Given the description of an element on the screen output the (x, y) to click on. 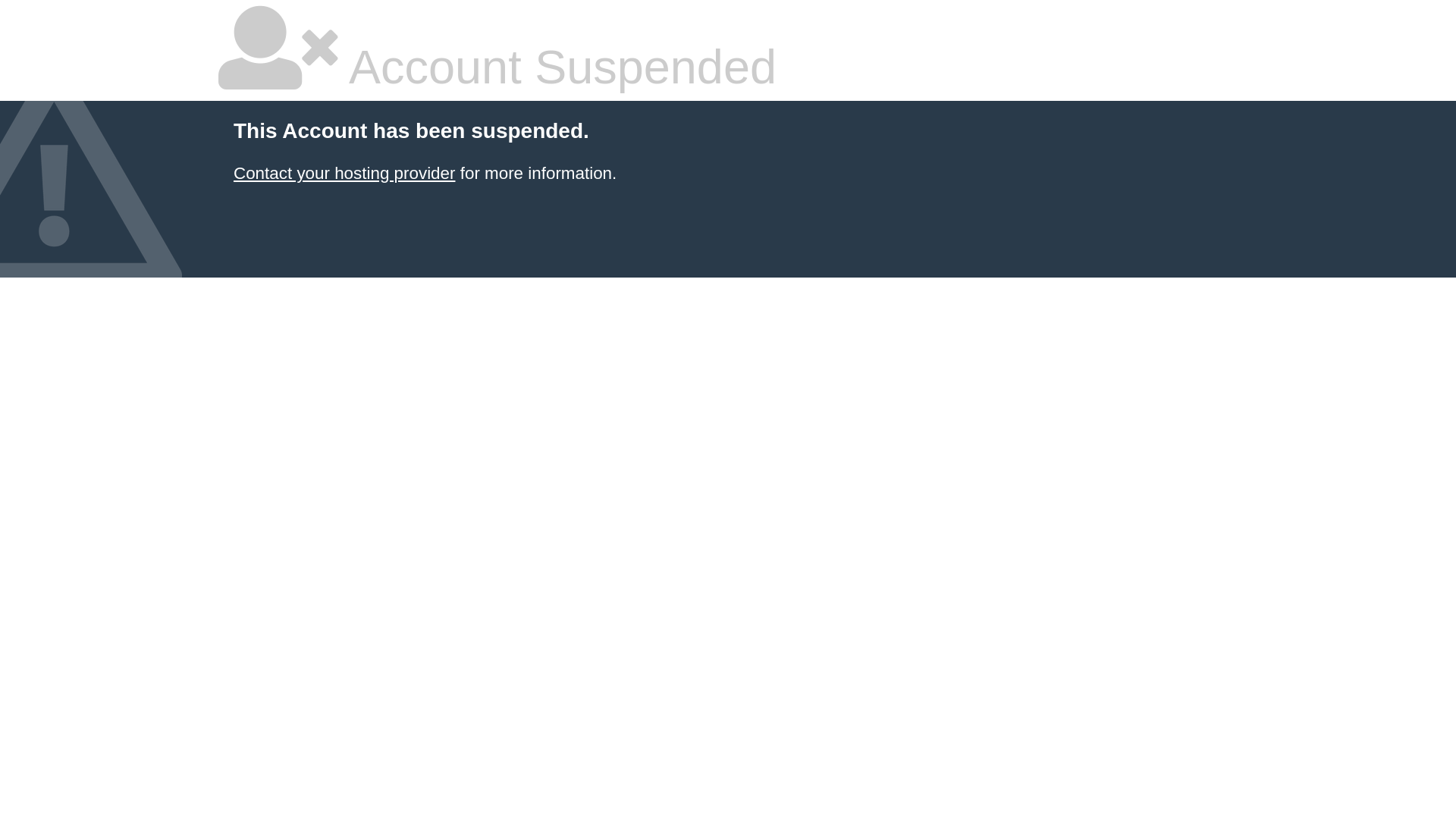
Contact your hosting provider Element type: text (344, 172)
